Given the description of an element on the screen output the (x, y) to click on. 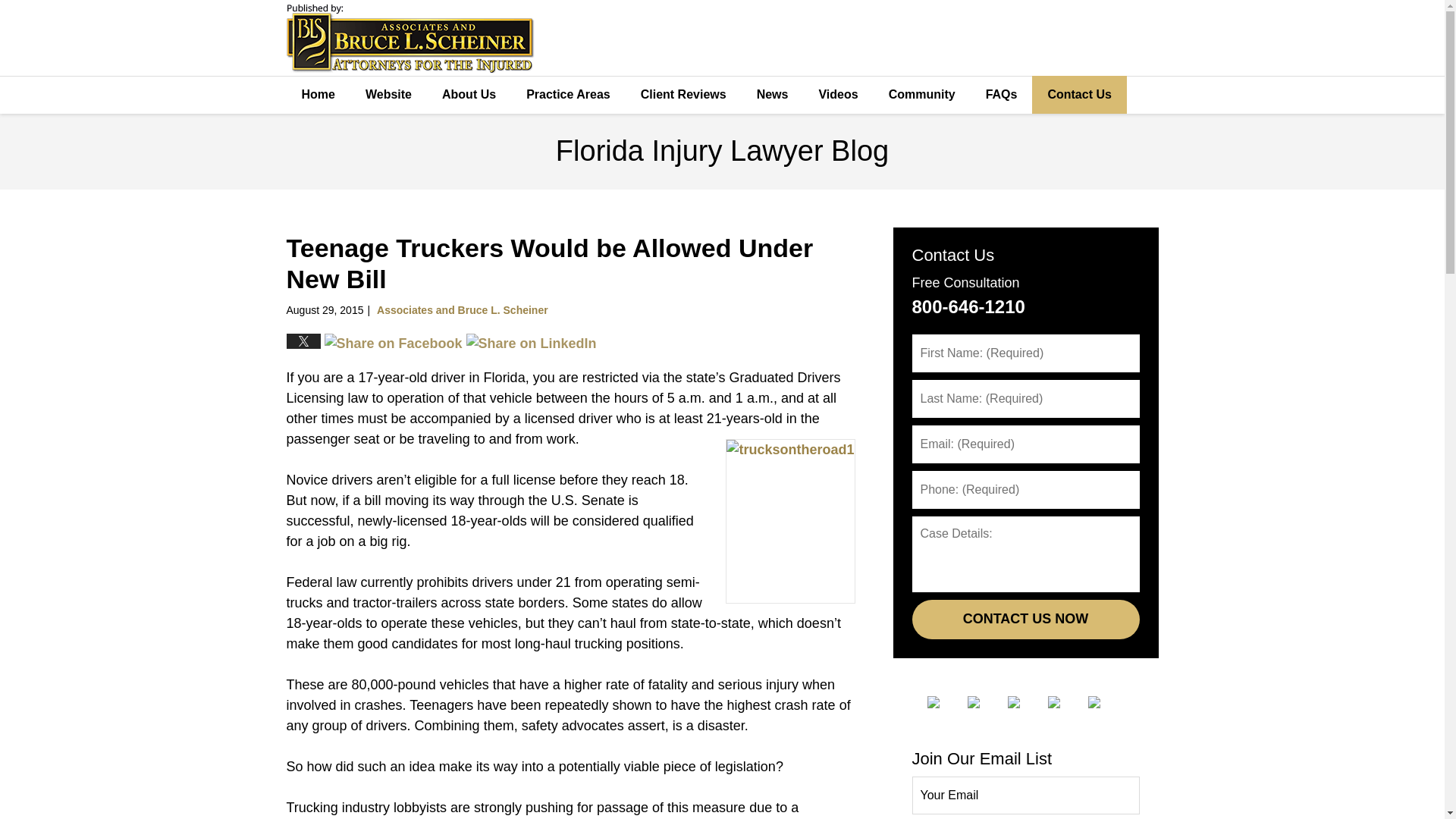
LinkedIn (1025, 702)
Your Email (1024, 795)
Website (388, 94)
Home (318, 94)
Videos (837, 94)
Practice Areas (568, 94)
Feed (1105, 702)
Client Reviews (683, 94)
FAQs (1001, 94)
Facebook (944, 702)
